Given the description of an element on the screen output the (x, y) to click on. 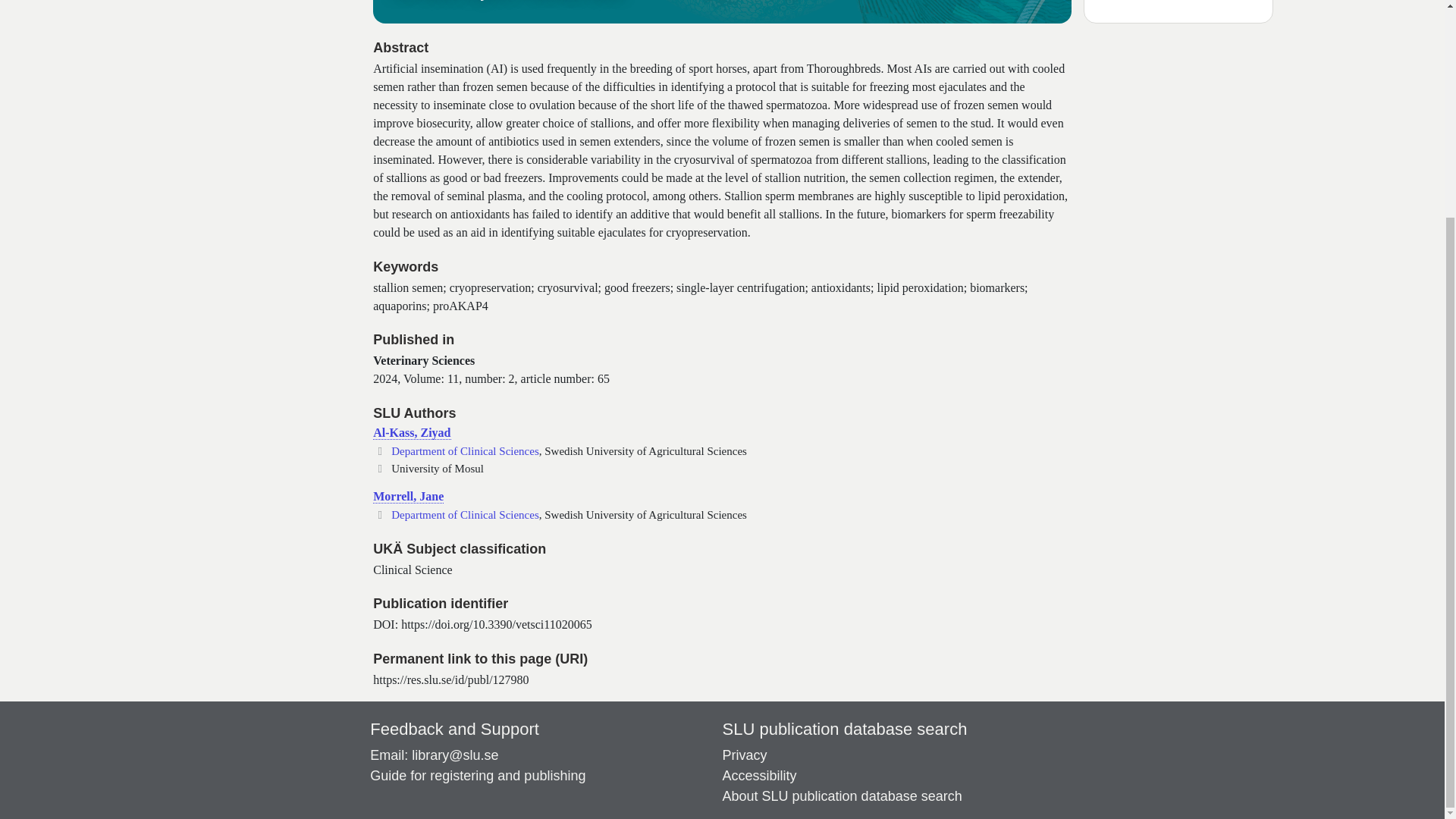
Department of Clinical Sciences (464, 514)
Guide for registering and publishing (477, 775)
About SLU publication database search (841, 795)
Al-Kass, Ziyad (410, 432)
Morrell, Jane (408, 496)
Accessibility (759, 775)
Privacy (744, 754)
Department of Clinical Sciences (464, 451)
